Given the description of an element on the screen output the (x, y) to click on. 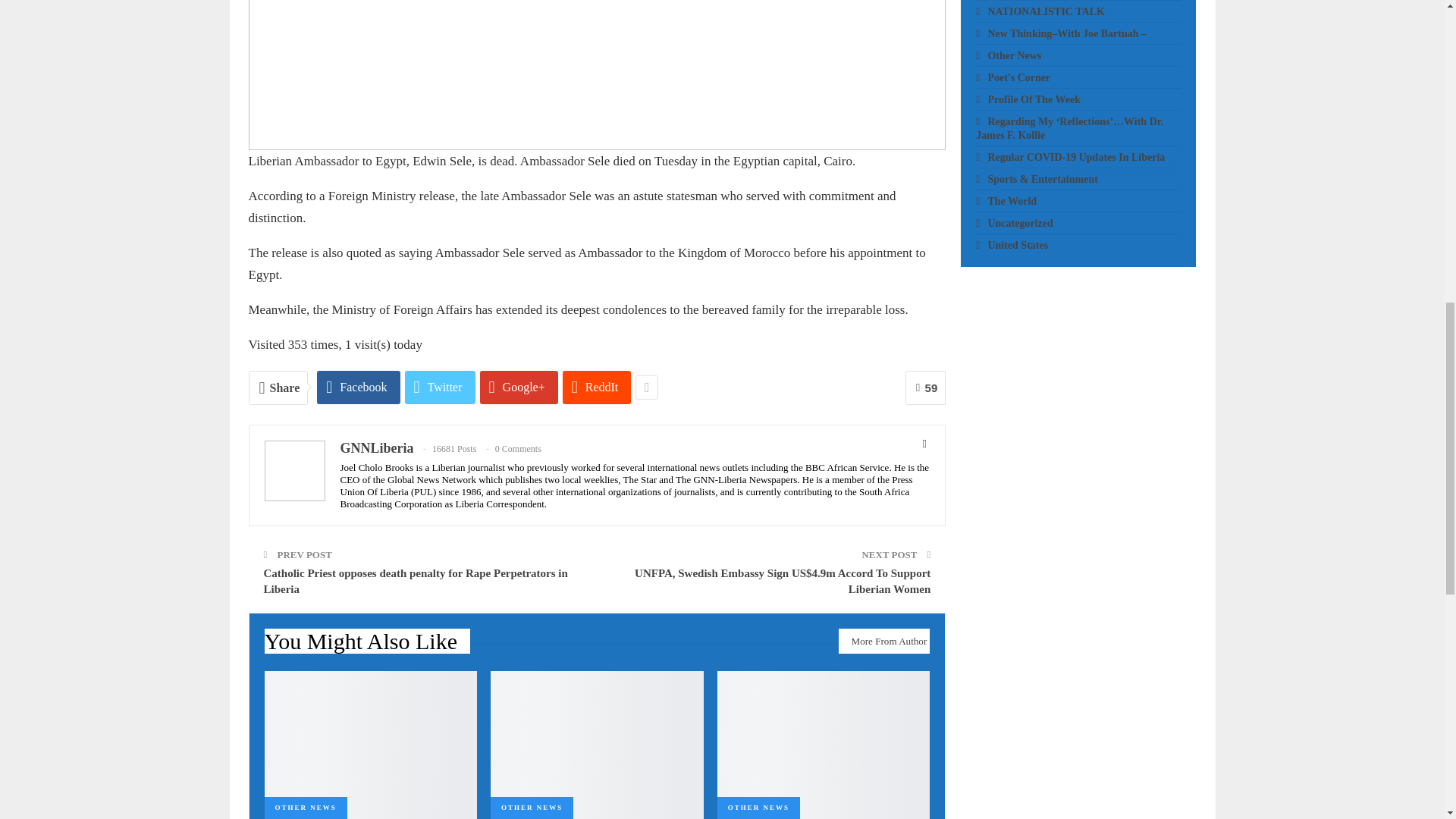
OTHER NEWS (304, 807)
GNNLiberia (376, 447)
More From Author (884, 640)
Twitter (440, 387)
SDI and Partners to Host Six Regional Forum (823, 744)
ReddIt (596, 387)
OTHER NEWS (531, 807)
Facebook (357, 387)
